Given the description of an element on the screen output the (x, y) to click on. 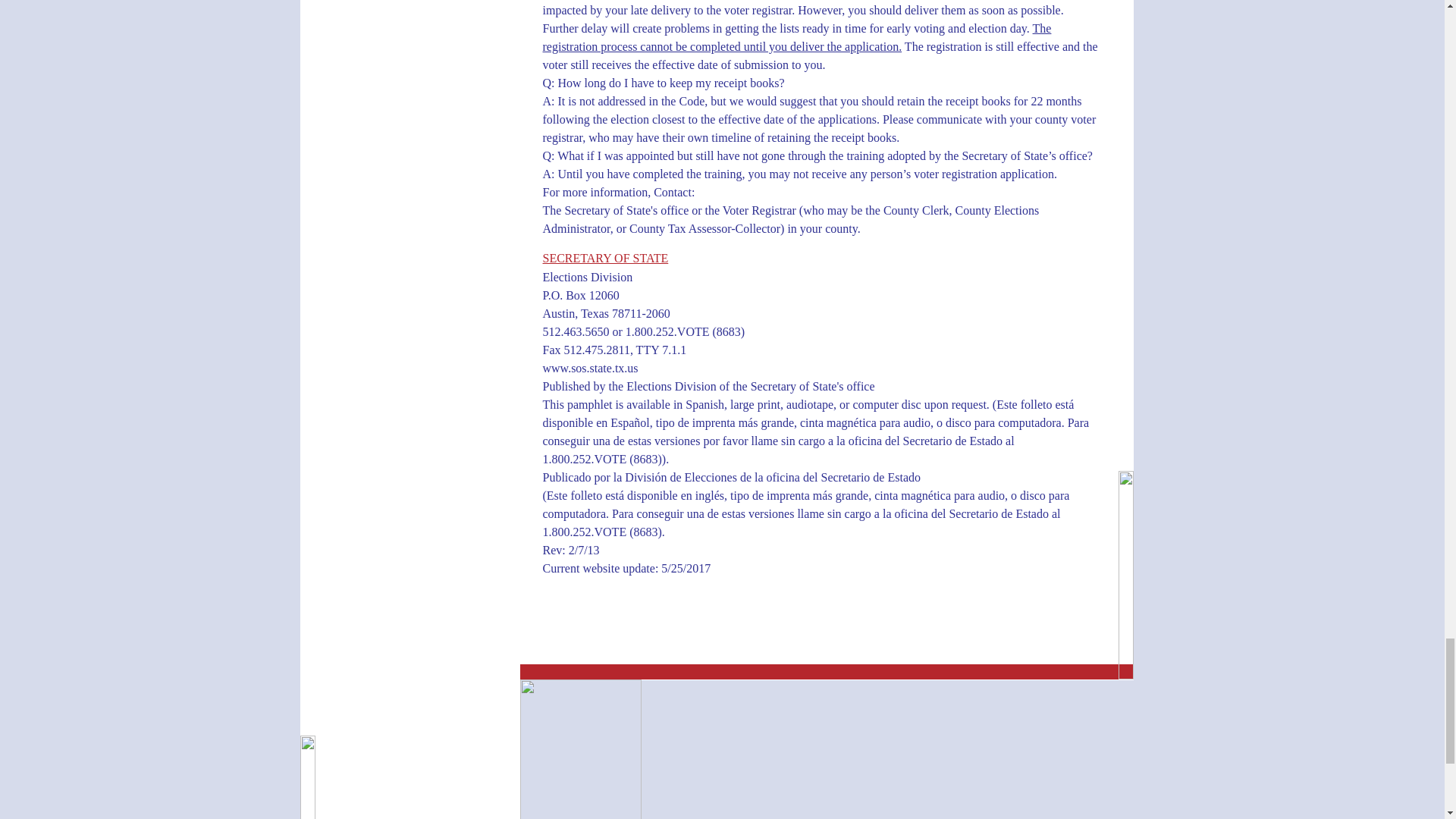
SECRETARY OF STATE (605, 259)
www.sos.state.tx.us (591, 369)
